Given the description of an element on the screen output the (x, y) to click on. 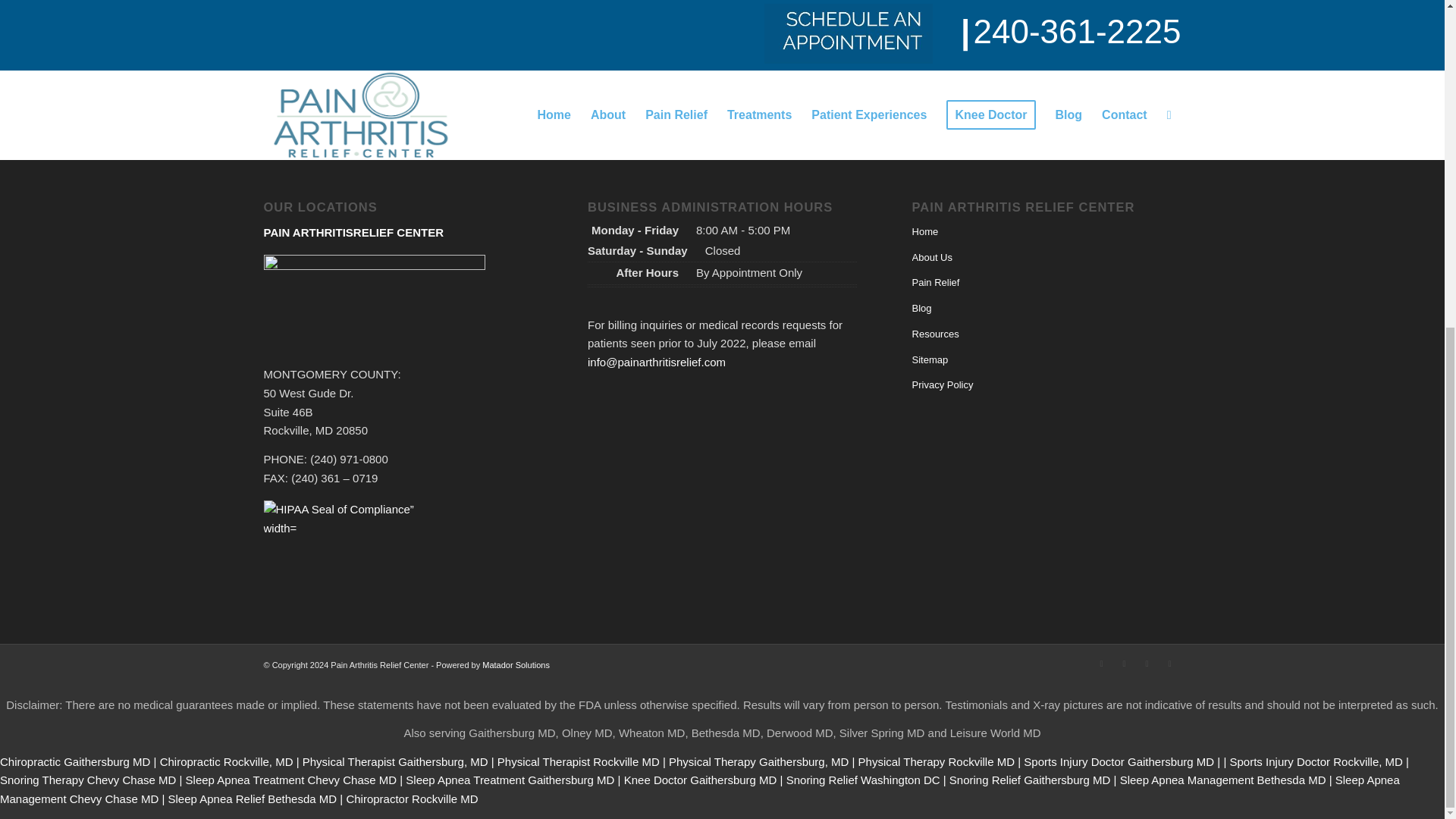
Facebook (1124, 662)
Instagram (1169, 662)
Youtube (1146, 662)
Twitter (1101, 662)
